Given the description of an element on the screen output the (x, y) to click on. 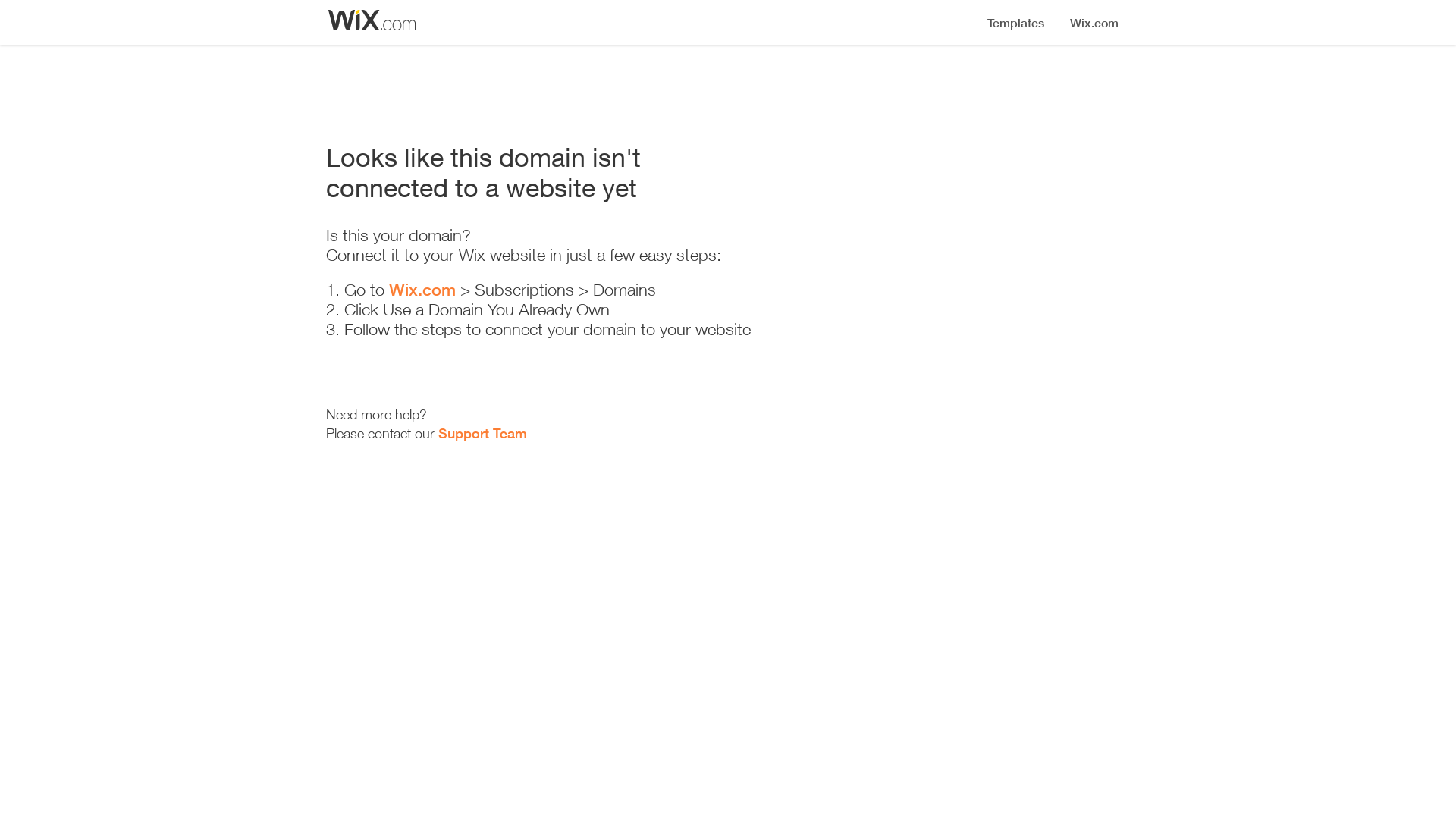
Wix.com Element type: text (422, 289)
Support Team Element type: text (482, 432)
